Given the description of an element on the screen output the (x, y) to click on. 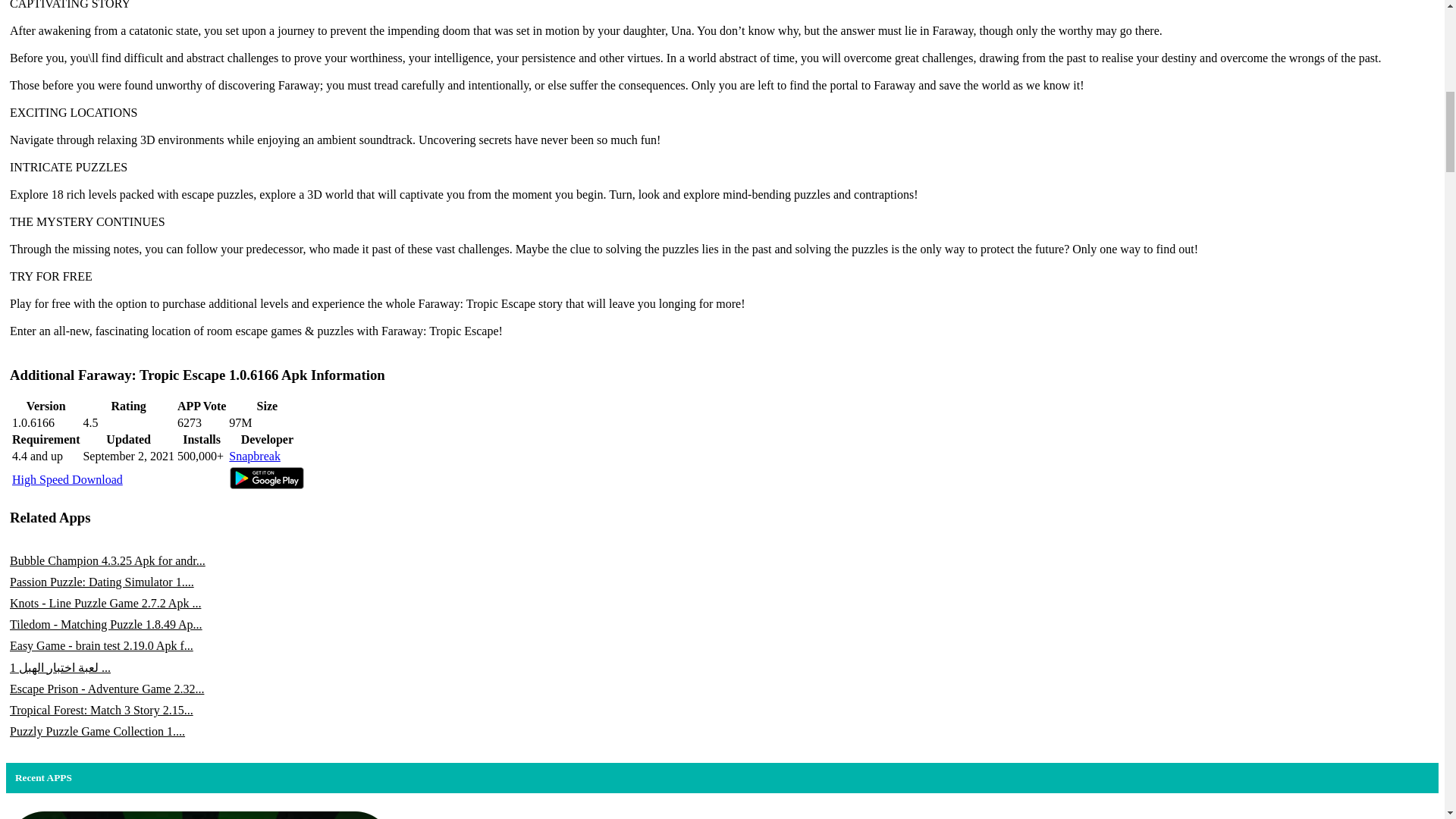
High Speed Download (66, 479)
Snapbreak (254, 455)
